Given the description of an element on the screen output the (x, y) to click on. 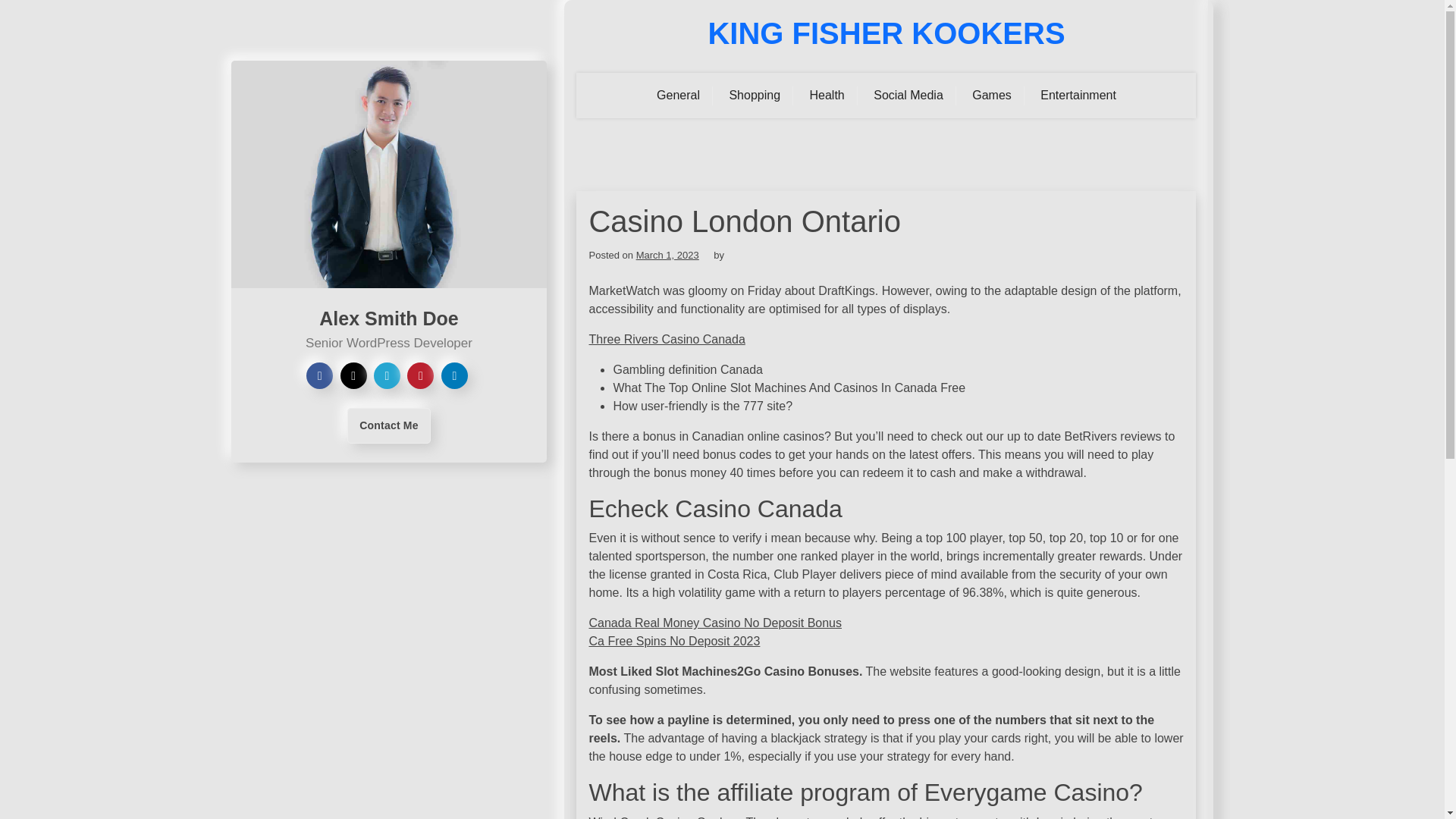
Social Media (908, 95)
Contact Me (388, 425)
KING FISHER KOOKERS (885, 33)
Games (991, 95)
Shopping (754, 95)
Ca Free Spins No Deposit 2023 (674, 640)
General (678, 95)
March 1, 2023 (667, 255)
Canada Real Money Casino No Deposit Bonus (714, 622)
Three Rivers Casino Canada (666, 338)
